Given the description of an element on the screen output the (x, y) to click on. 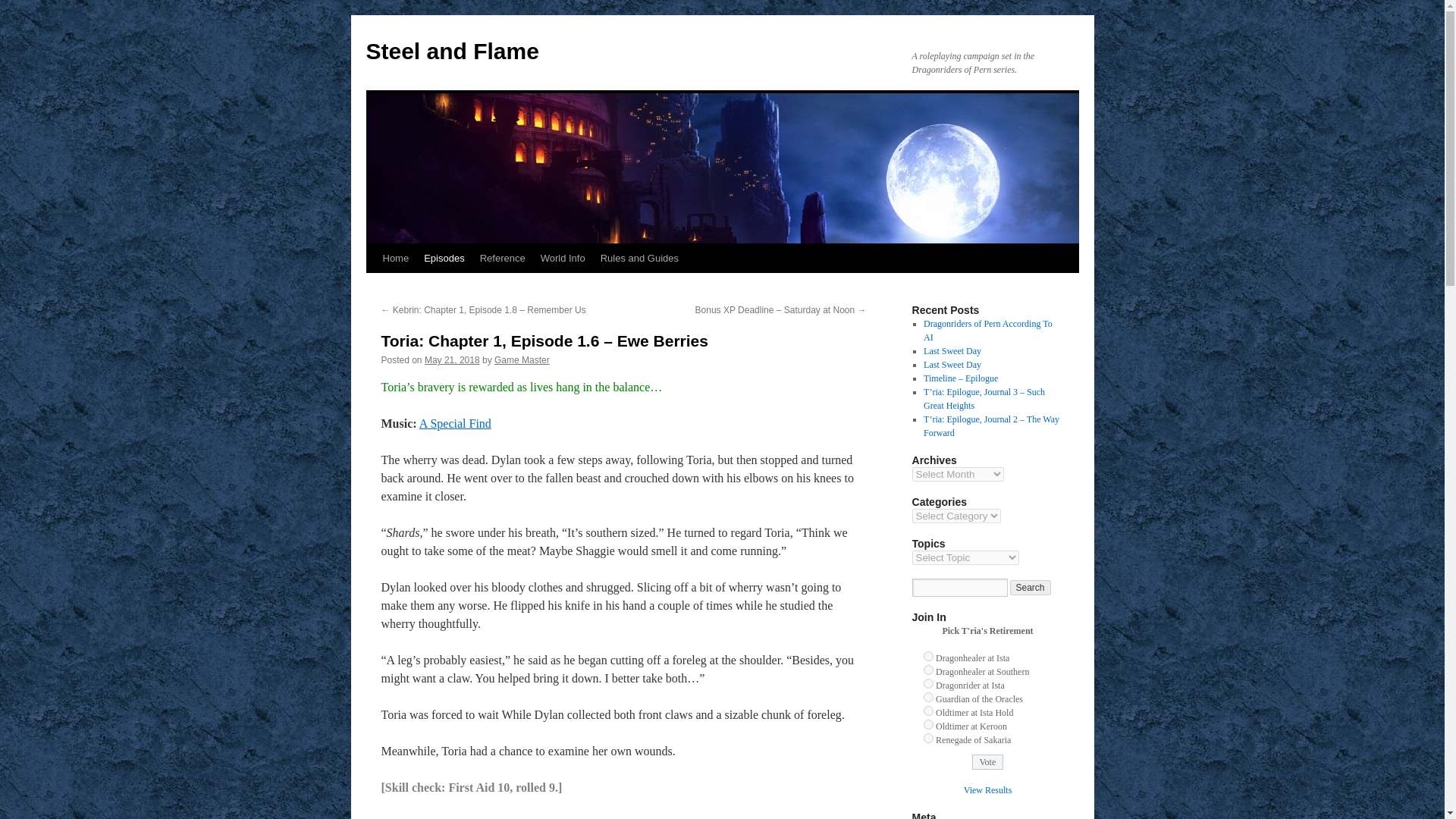
Home (395, 258)
World Info (562, 258)
173 (928, 724)
172 (928, 710)
   Vote    (988, 761)
171 (928, 696)
Reference (501, 258)
Steel and Flame (451, 50)
174 (928, 737)
Skip to content (372, 286)
Search (1030, 587)
169 (928, 669)
168 (928, 655)
